Given the description of an element on the screen output the (x, y) to click on. 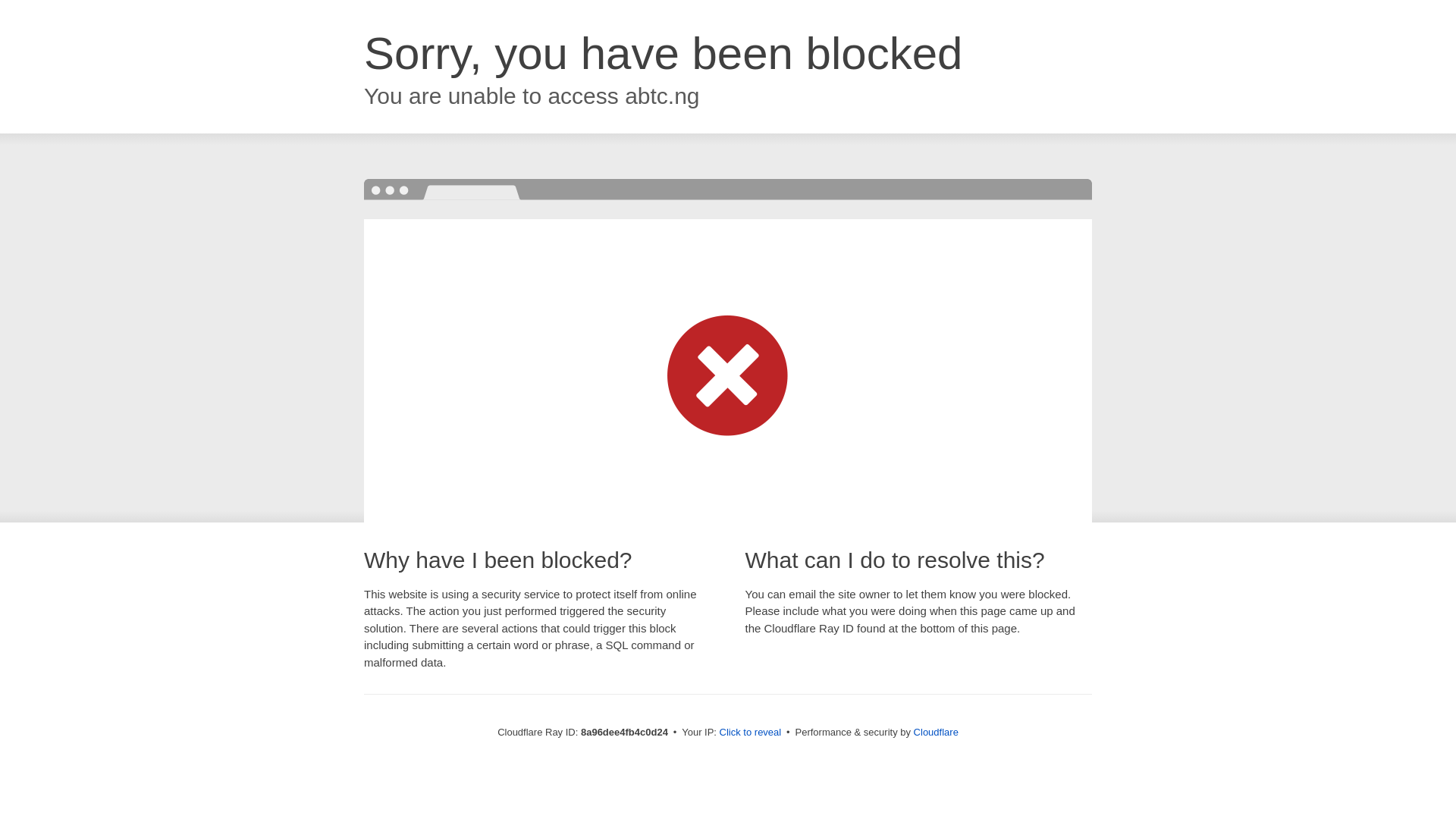
Click to reveal (750, 732)
Cloudflare (936, 731)
